Given the description of an element on the screen output the (x, y) to click on. 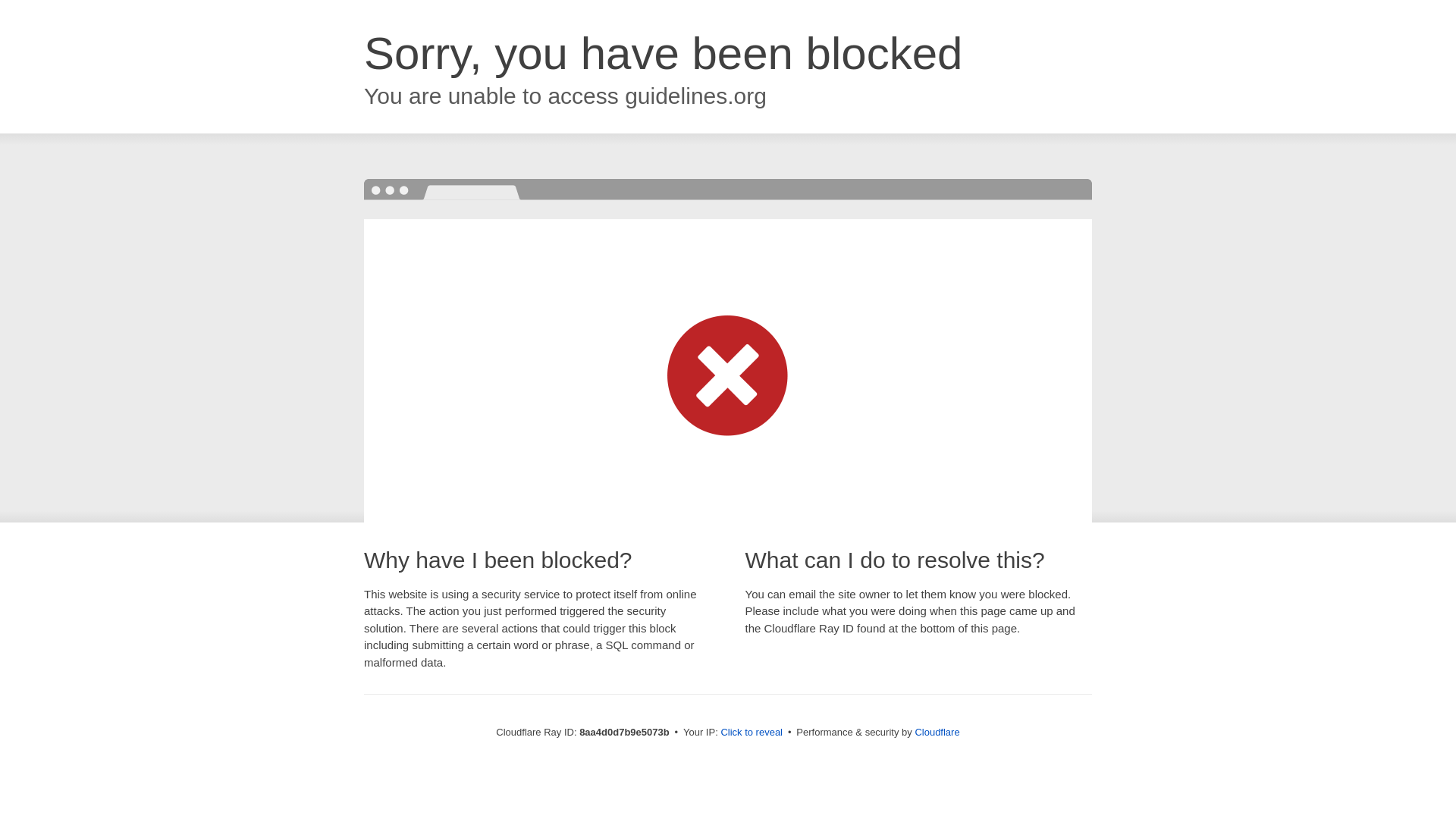
Click to reveal (751, 732)
Cloudflare (936, 731)
